Given the description of an element on the screen output the (x, y) to click on. 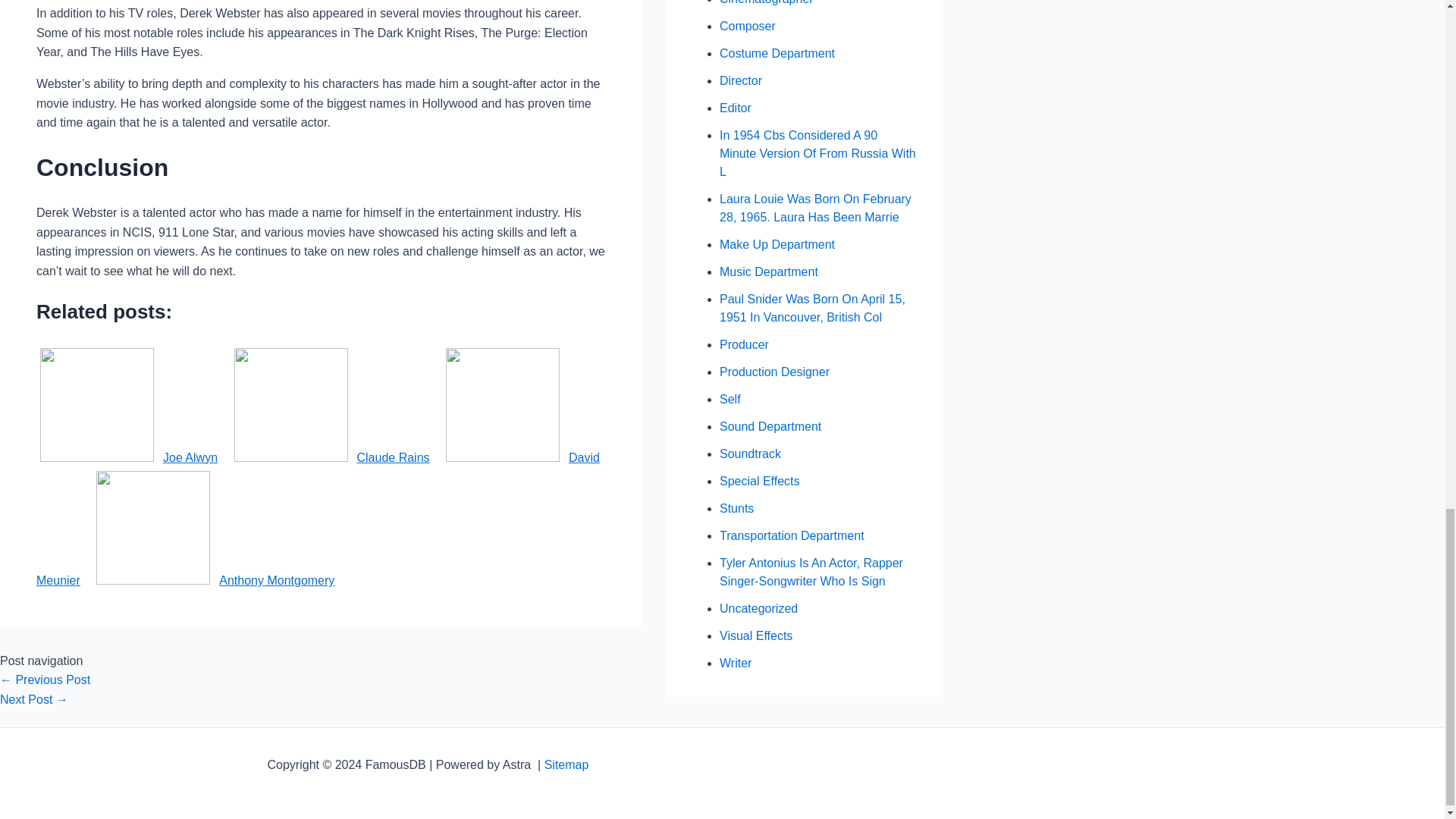
Claude Rains (332, 457)
Anthony Montgomery (216, 580)
Claude Rains (332, 457)
David Meunier (317, 519)
Anthony Montgomery (216, 580)
Joe Alwyn (129, 457)
Joe Alwyn (129, 457)
David Meunier (317, 519)
